Given the description of an element on the screen output the (x, y) to click on. 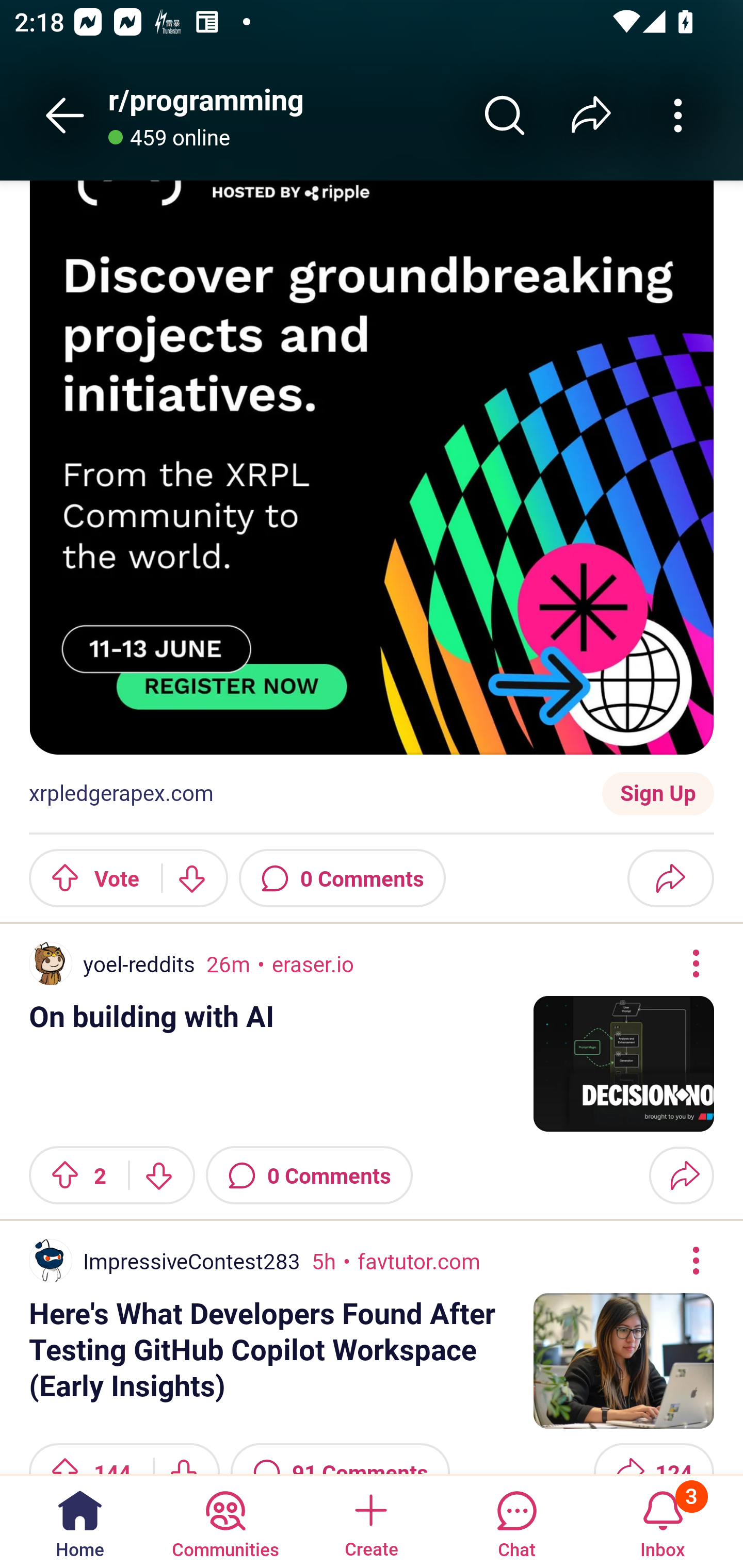
Back (64, 115)
Search r/﻿programming (504, 115)
Share r/﻿programming (591, 115)
More community actions (677, 115)
Home (80, 1520)
Communities (225, 1520)
Create a post Create (370, 1520)
Chat (516, 1520)
Inbox, has 3 notifications 3 Inbox (662, 1520)
